Given the description of an element on the screen output the (x, y) to click on. 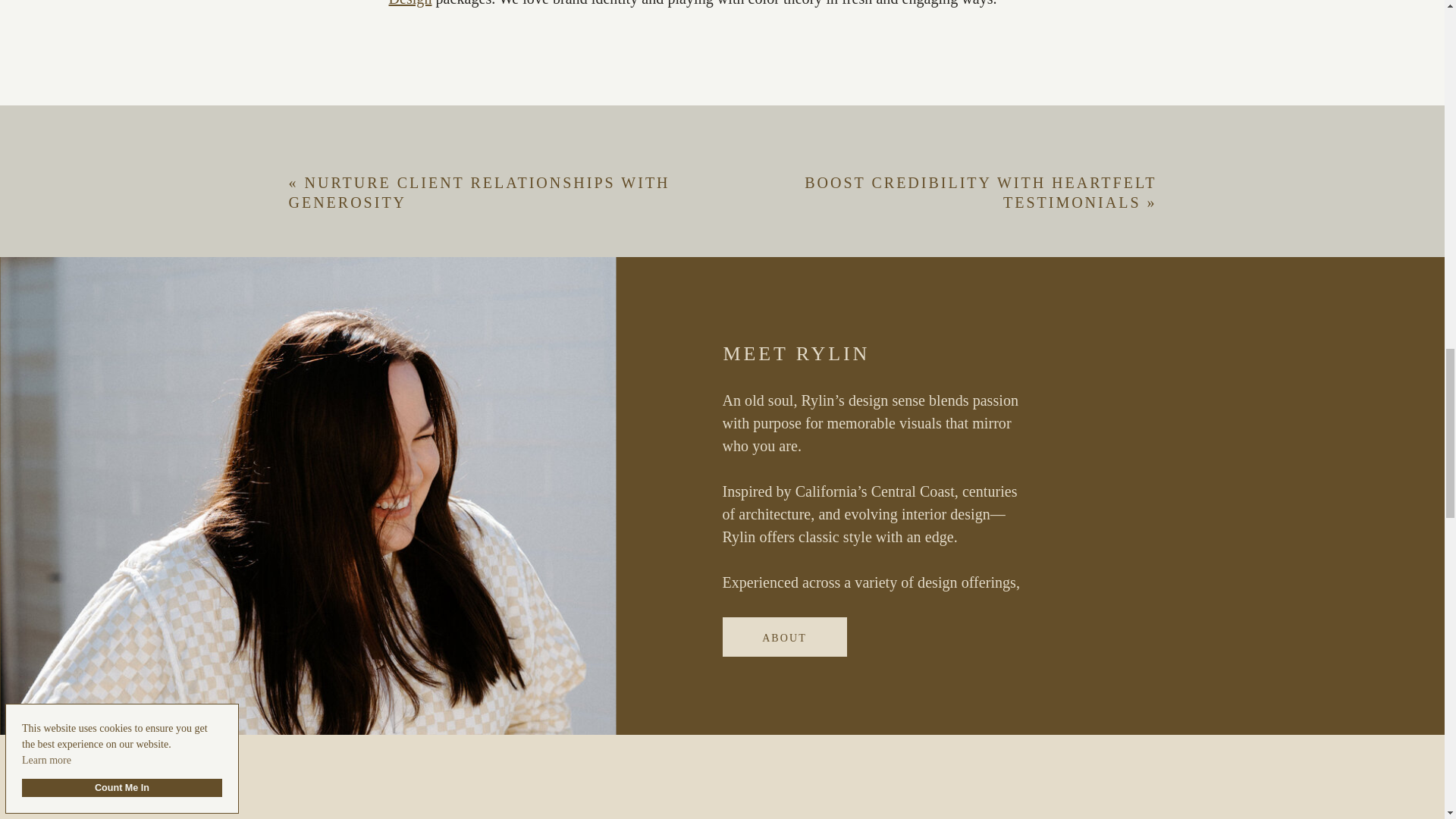
Design (409, 3)
BOOST CREDIBILITY WITH HEARTFELT TESTIMONIALS (980, 192)
ABOUT (783, 636)
NURTURE CLIENT RELATIONSHIPS WITH GENEROSITY (478, 192)
